Given the description of an element on the screen output the (x, y) to click on. 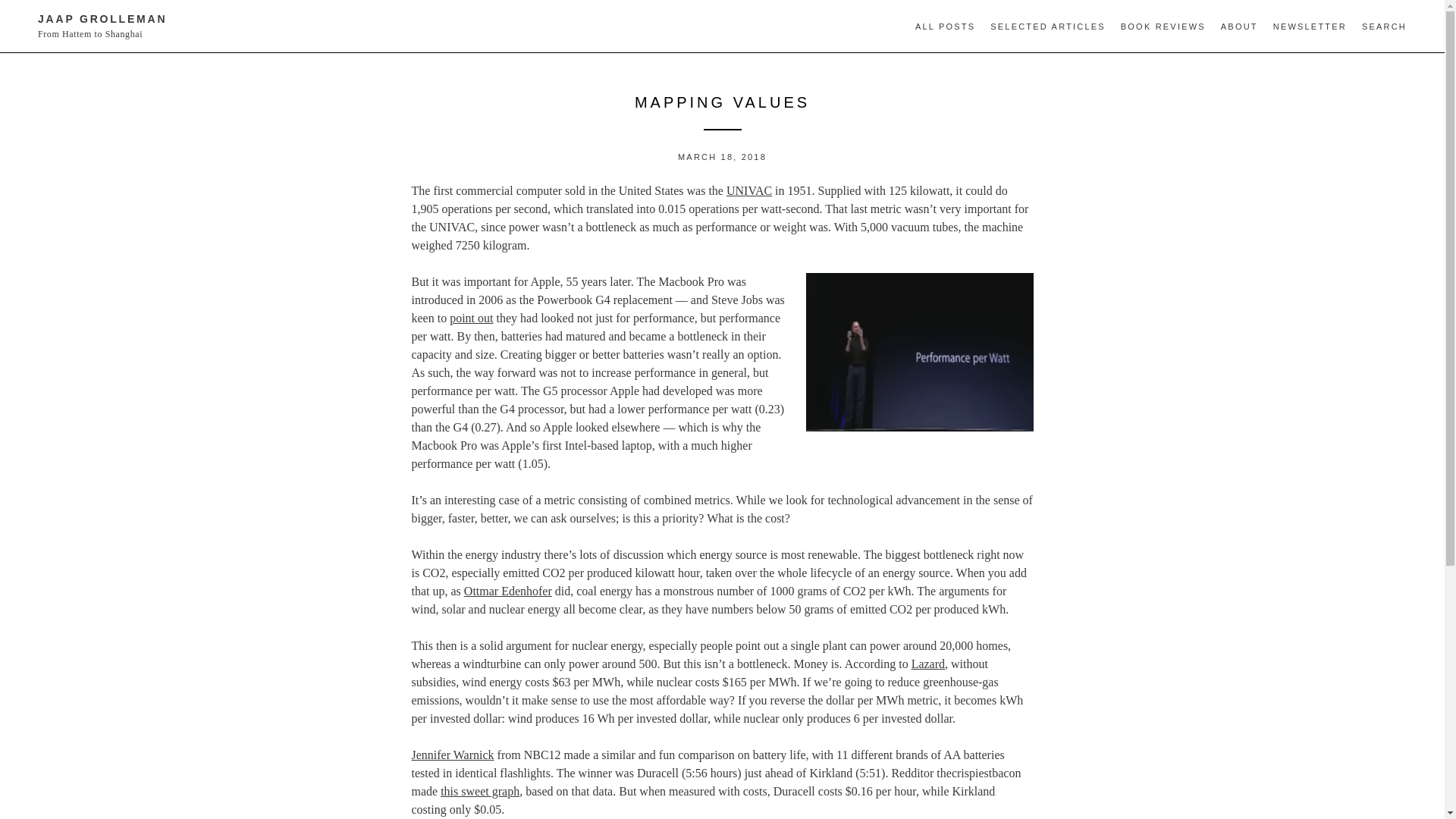
JAAP GROLLEMAN (102, 19)
BOOK REVIEWS (1163, 26)
ABOUT (1239, 26)
SELECTED ARTICLES (1047, 26)
SEARCH (1383, 26)
Jennifer Warnick (451, 754)
point out (471, 318)
this sweet graph (480, 790)
NEWSLETTER (1309, 26)
UNIVAC (748, 190)
Ottmar Edenhofer (507, 590)
Lazard (927, 663)
ALL POSTS (945, 26)
